Given the description of an element on the screen output the (x, y) to click on. 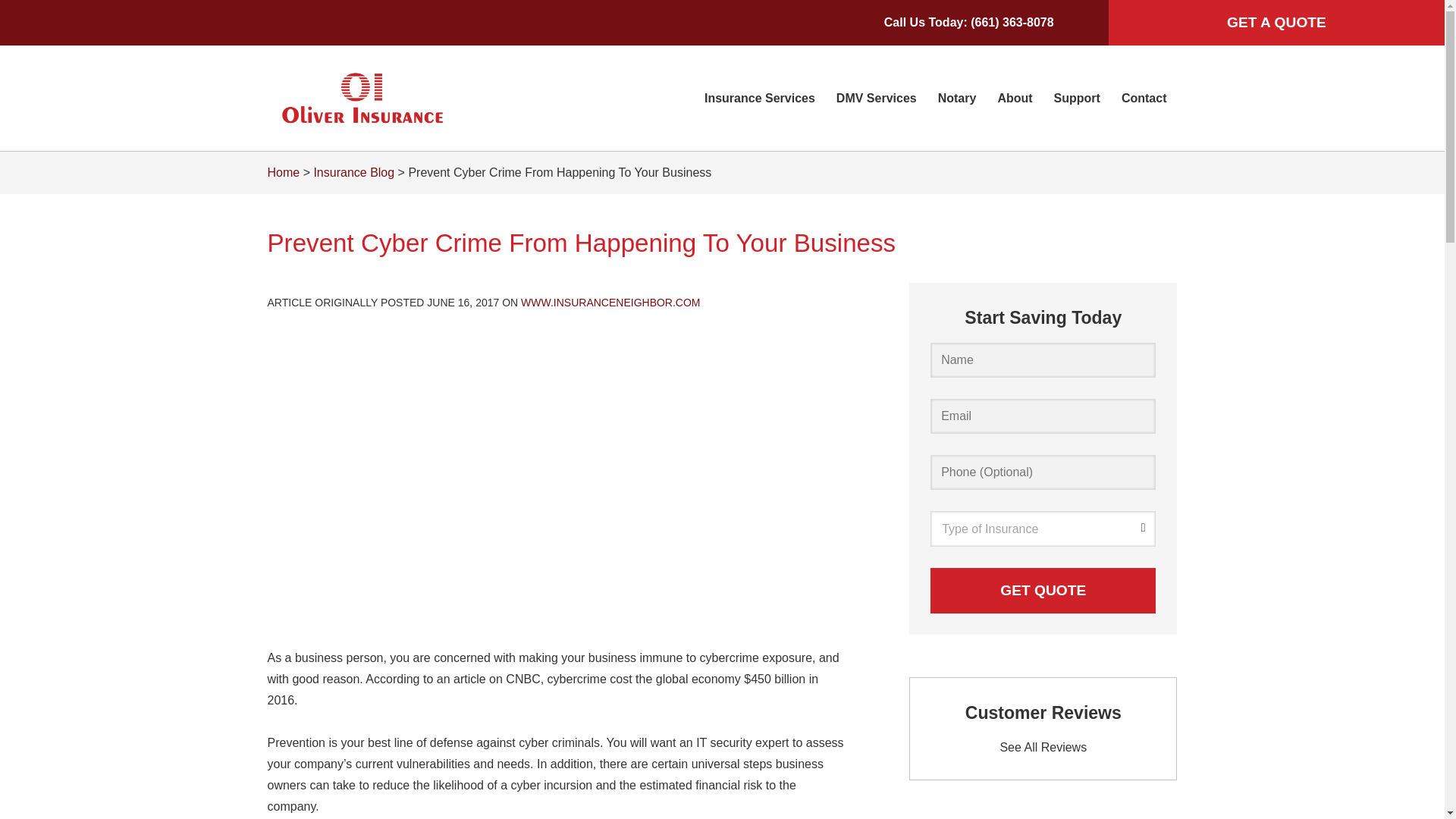
Notary (957, 97)
About (1014, 97)
Support (1076, 97)
Home Page (411, 98)
DMV Services (876, 97)
logo (361, 98)
Insurance Services (759, 97)
Get Quote (1043, 590)
Contact (1143, 97)
